Given the description of an element on the screen output the (x, y) to click on. 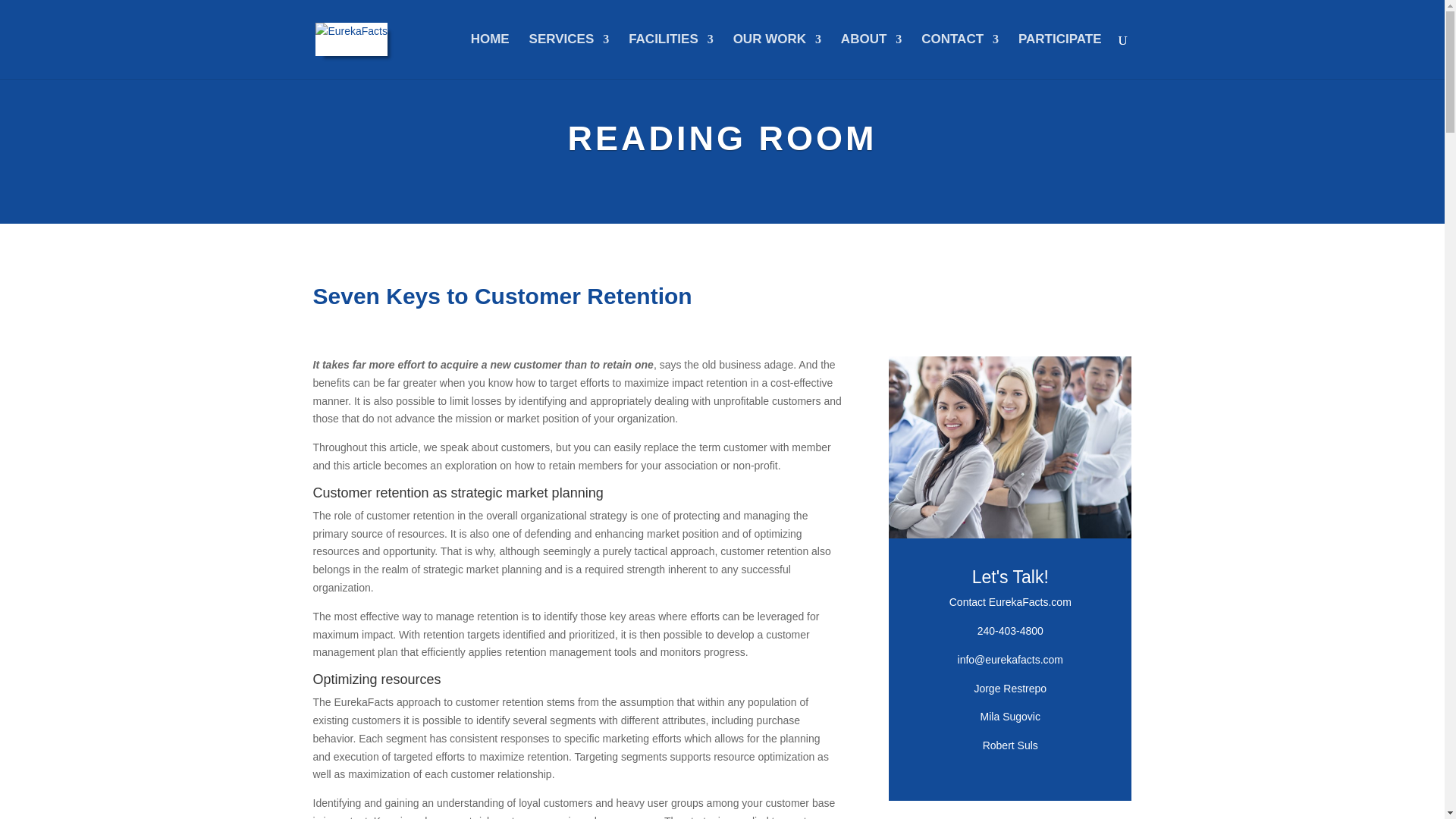
CONTACT (959, 56)
Mila Sugovic (1010, 716)
FACILITIES (670, 56)
PARTICIPATE (1059, 56)
Jorge Restrepo (1010, 688)
SERVICES (569, 56)
ABOUT (871, 56)
OUR WORK (777, 56)
